Given the description of an element on the screen output the (x, y) to click on. 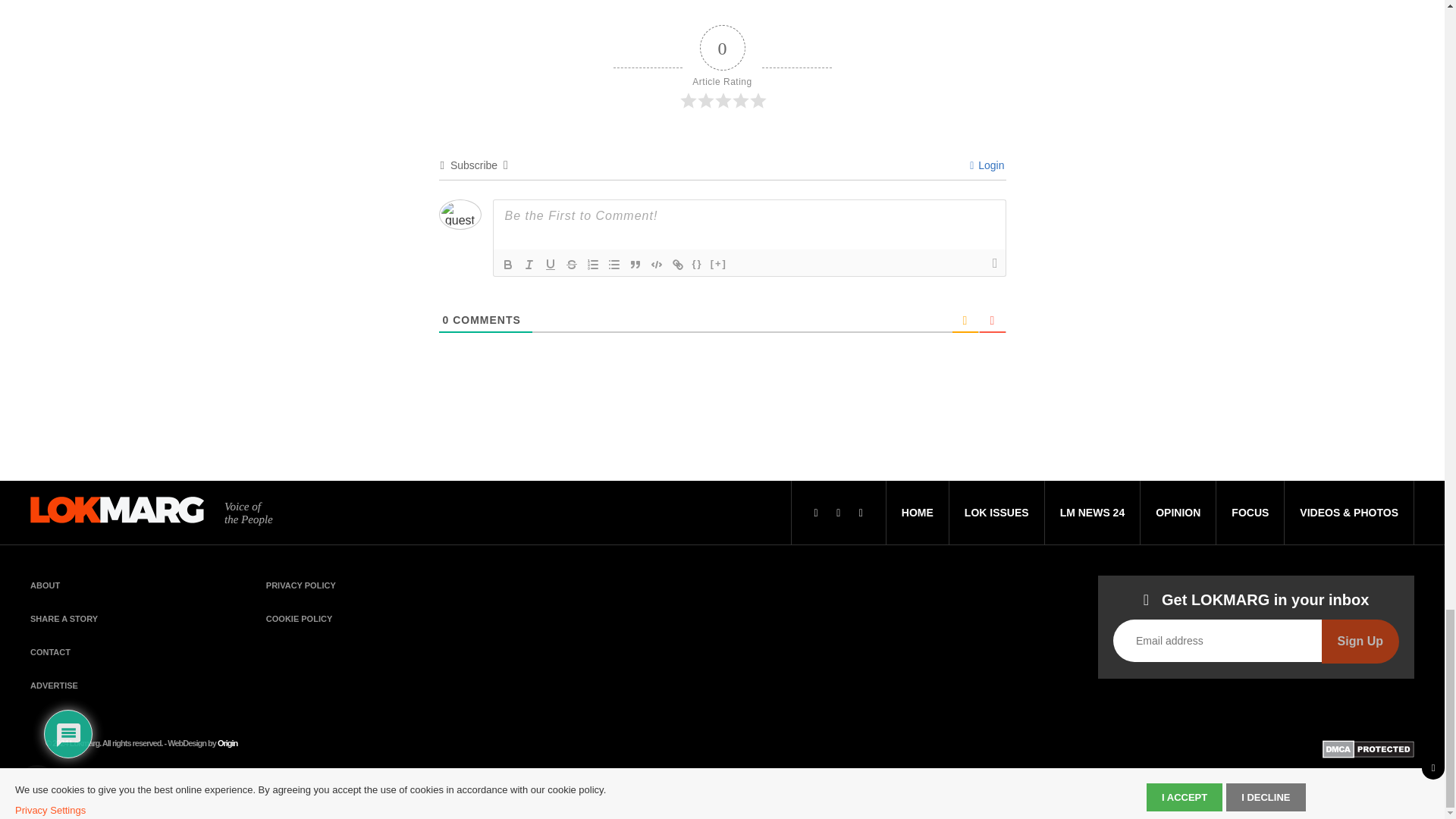
Login (986, 164)
Sign Up (1360, 641)
